Given the description of an element on the screen output the (x, y) to click on. 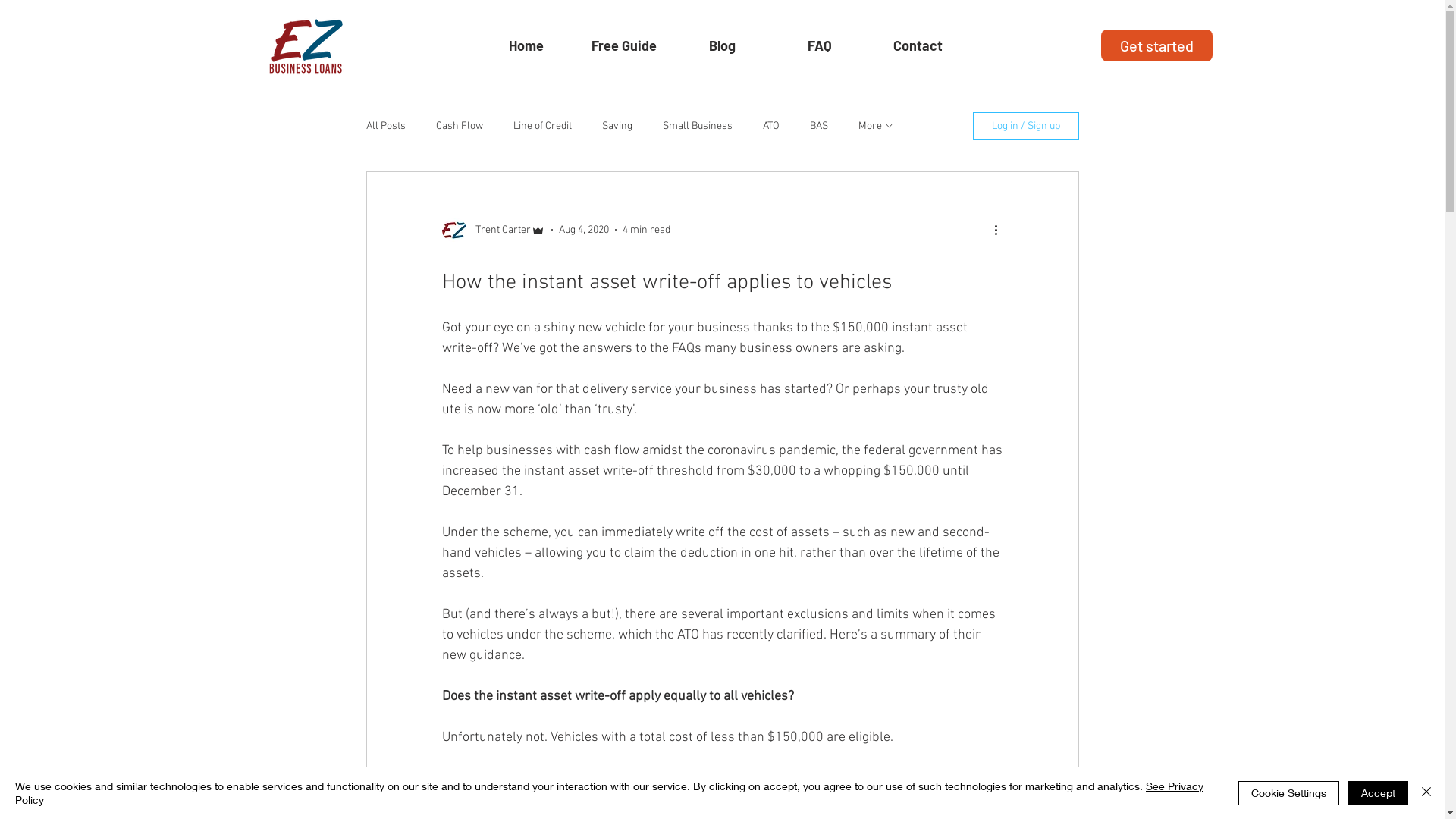
FAQ Element type: text (819, 45)
Log in / Sign up Element type: text (1025, 125)
Home Element type: text (526, 45)
Blog Element type: text (722, 45)
Accept Element type: text (1378, 793)
Line of Credit Element type: text (541, 125)
Get started Element type: text (1156, 45)
Free Guide Element type: text (623, 45)
Saving Element type: text (617, 125)
Contact Element type: text (917, 45)
Cookie Settings Element type: text (1288, 793)
Small Business Element type: text (697, 125)
All Posts Element type: text (384, 125)
See Privacy Policy Element type: text (609, 792)
Cash Flow Element type: text (458, 125)
ATO Element type: text (770, 125)
BAS Element type: text (818, 125)
